Given the description of an element on the screen output the (x, y) to click on. 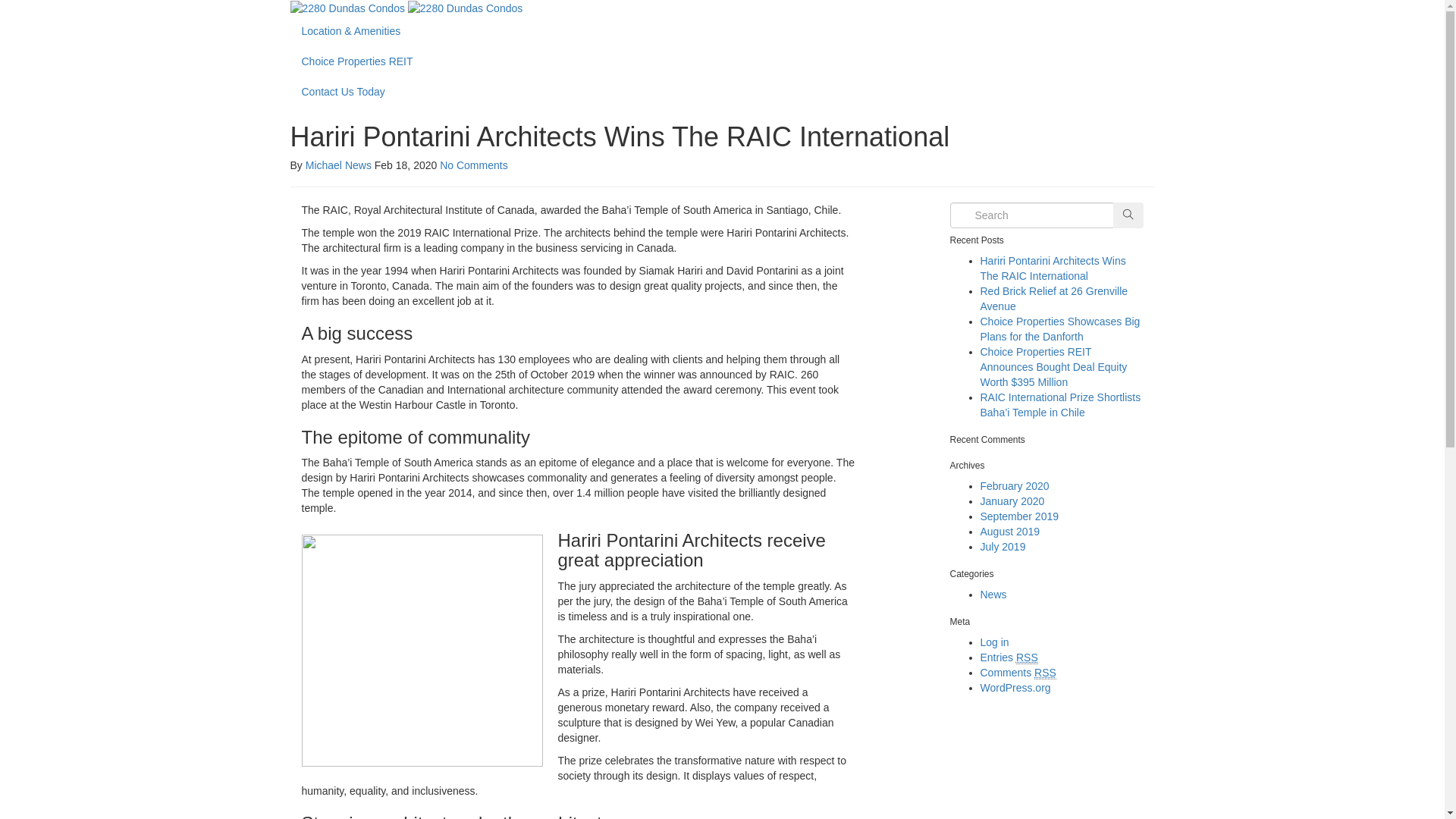
Location & Amenities Element type: text (721, 30)
News Element type: text (358, 165)
Log in Element type: text (993, 642)
Hariri Pontarini Architects Wins The RAIC International Element type: text (1052, 268)
Choice Properties Showcases Big Plans for the Danforth Element type: text (1059, 328)
Contact Us Today Element type: text (721, 91)
Comments RSS Element type: text (1017, 672)
August 2019 Element type: text (1009, 531)
September 2019 Element type: text (1018, 516)
Red Brick Relief at 26 Grenville Avenue Element type: text (1053, 298)
WordPress.org Element type: text (1014, 687)
News Element type: text (992, 594)
January 2020 Element type: text (1011, 501)
Michael Element type: text (323, 165)
February 2020 Element type: text (1013, 486)
Choice Properties REIT Element type: text (721, 61)
July 2019 Element type: text (1002, 546)
Entries RSS Element type: text (1008, 657)
